Given the description of an element on the screen output the (x, y) to click on. 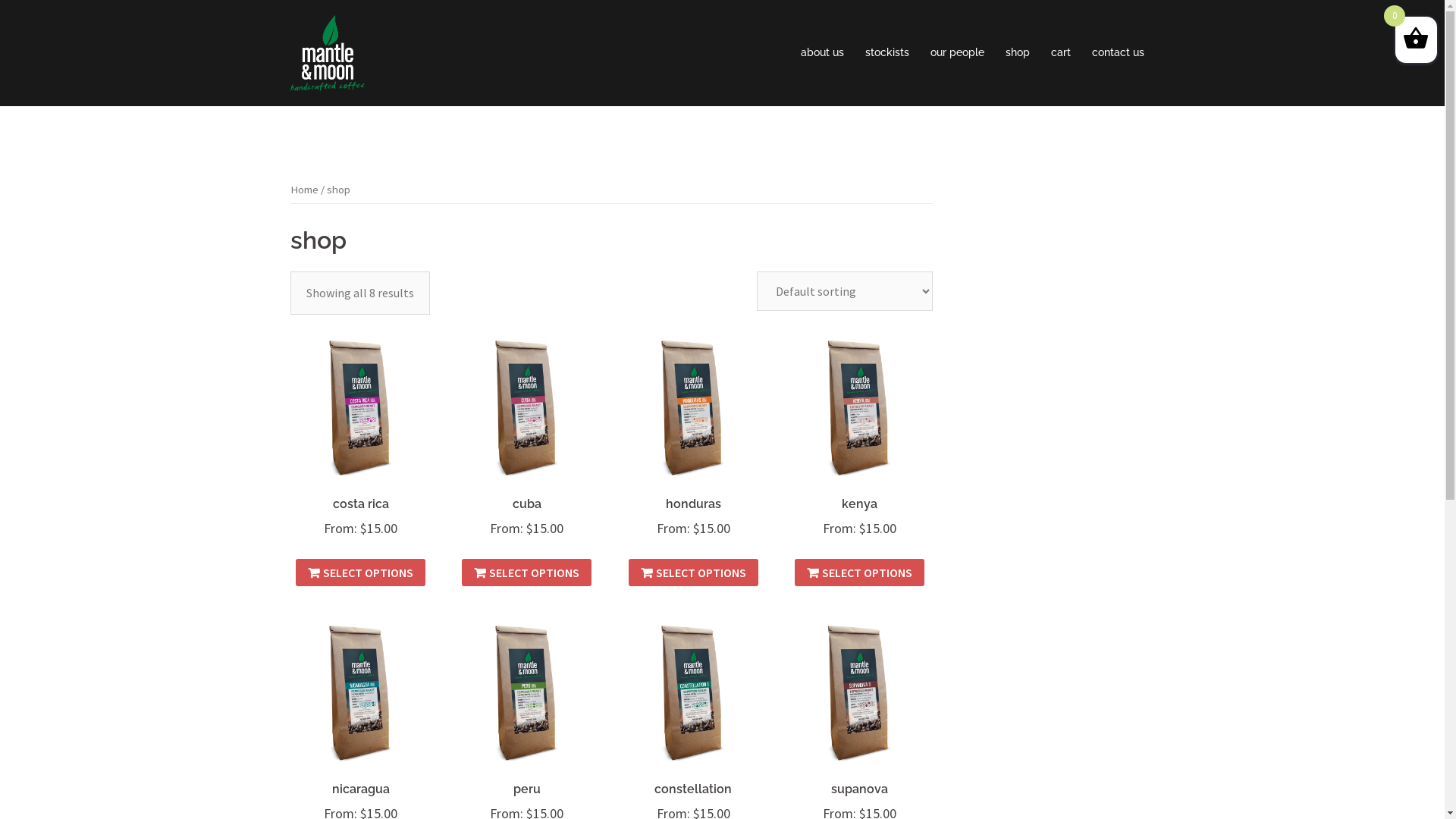
SELECT OPTIONS Element type: text (360, 572)
shop Element type: text (1017, 52)
cuba
From: $15.00 Element type: text (527, 458)
SELECT OPTIONS Element type: text (859, 572)
contact us Element type: text (1118, 52)
about us Element type: text (822, 52)
honduras
From: $15.00 Element type: text (693, 458)
cart Element type: text (1060, 52)
our people Element type: text (956, 52)
SELECT OPTIONS Element type: text (693, 572)
costa rica
From: $15.00 Element type: text (360, 458)
kenya
From: $15.00 Element type: text (859, 458)
SELECT OPTIONS Element type: text (526, 572)
My CMS Element type: hover (326, 51)
stockists Element type: text (886, 52)
Home Element type: text (303, 189)
